Given the description of an element on the screen output the (x, y) to click on. 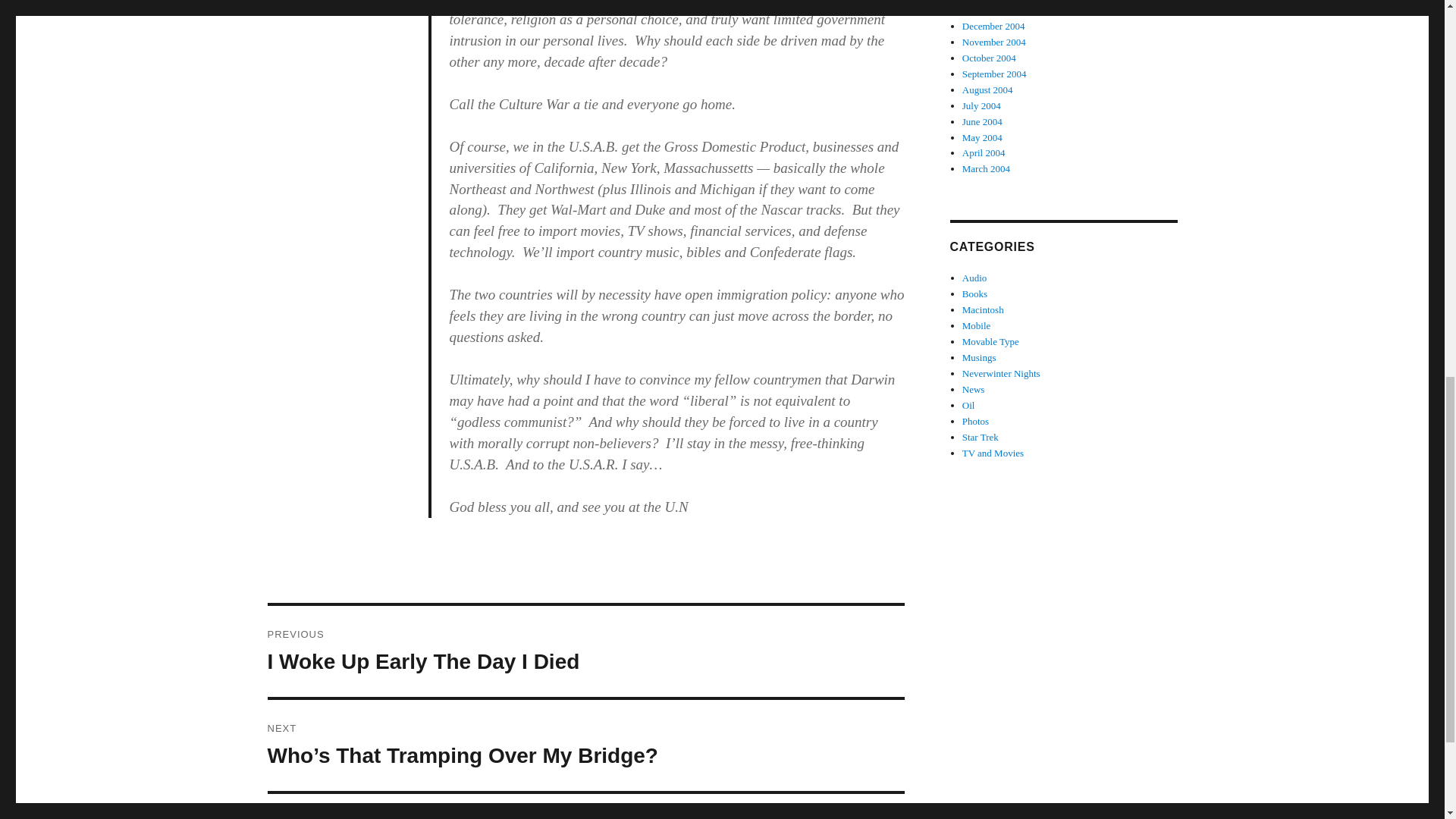
September 2018 (994, 9)
Neverwinter Nights (1001, 373)
News (973, 389)
Macintosh (983, 309)
September 2004 (994, 73)
Mobile (976, 325)
Photos (975, 420)
Oil (968, 405)
Movable Type (990, 341)
August 2004 (987, 89)
Books (585, 651)
June 2004 (974, 293)
Audio (982, 121)
July 2004 (974, 277)
